Given the description of an element on the screen output the (x, y) to click on. 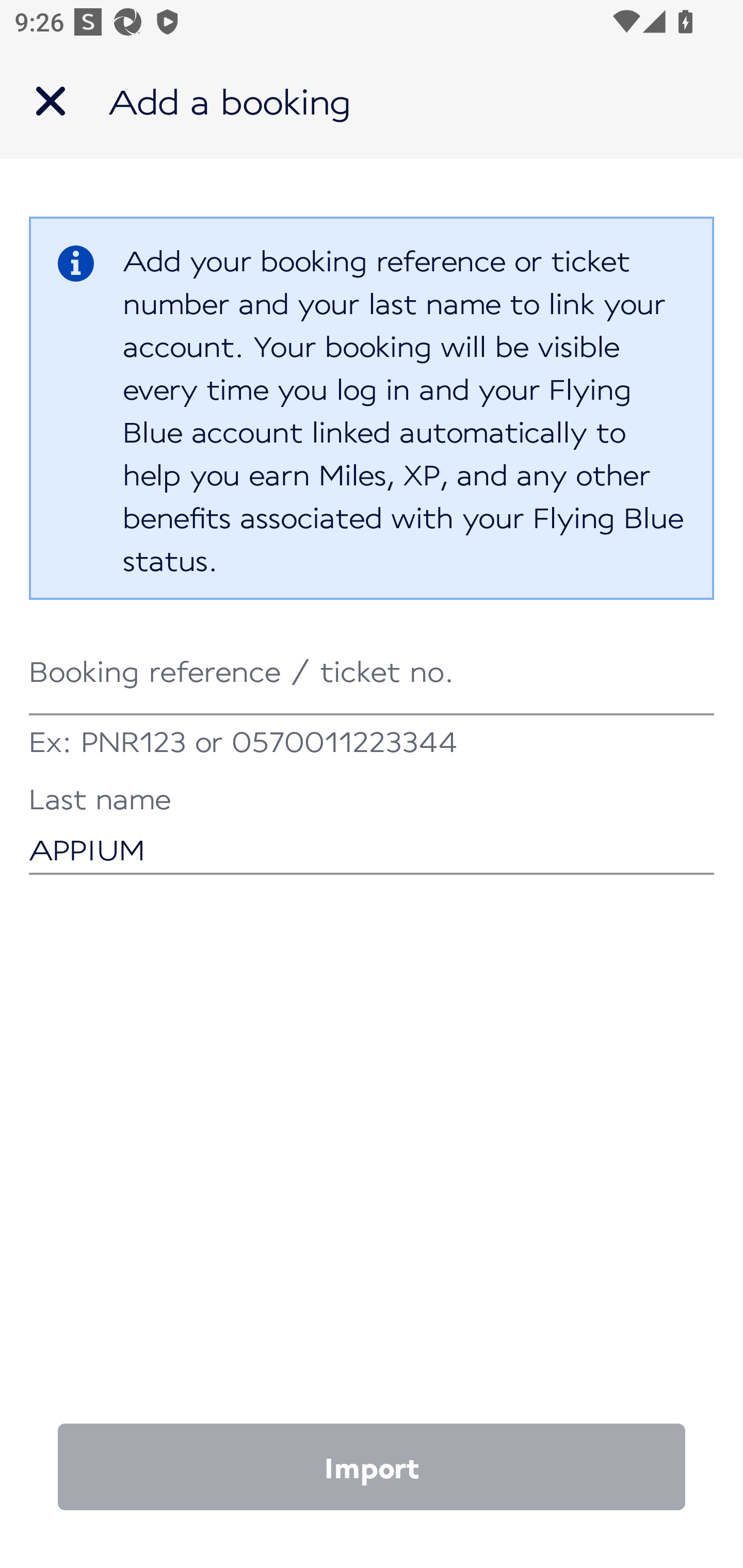
Booking reference / ticket no. (371, 671)
APPIUM (371, 831)
Import (371, 1466)
